Given the description of an element on the screen output the (x, y) to click on. 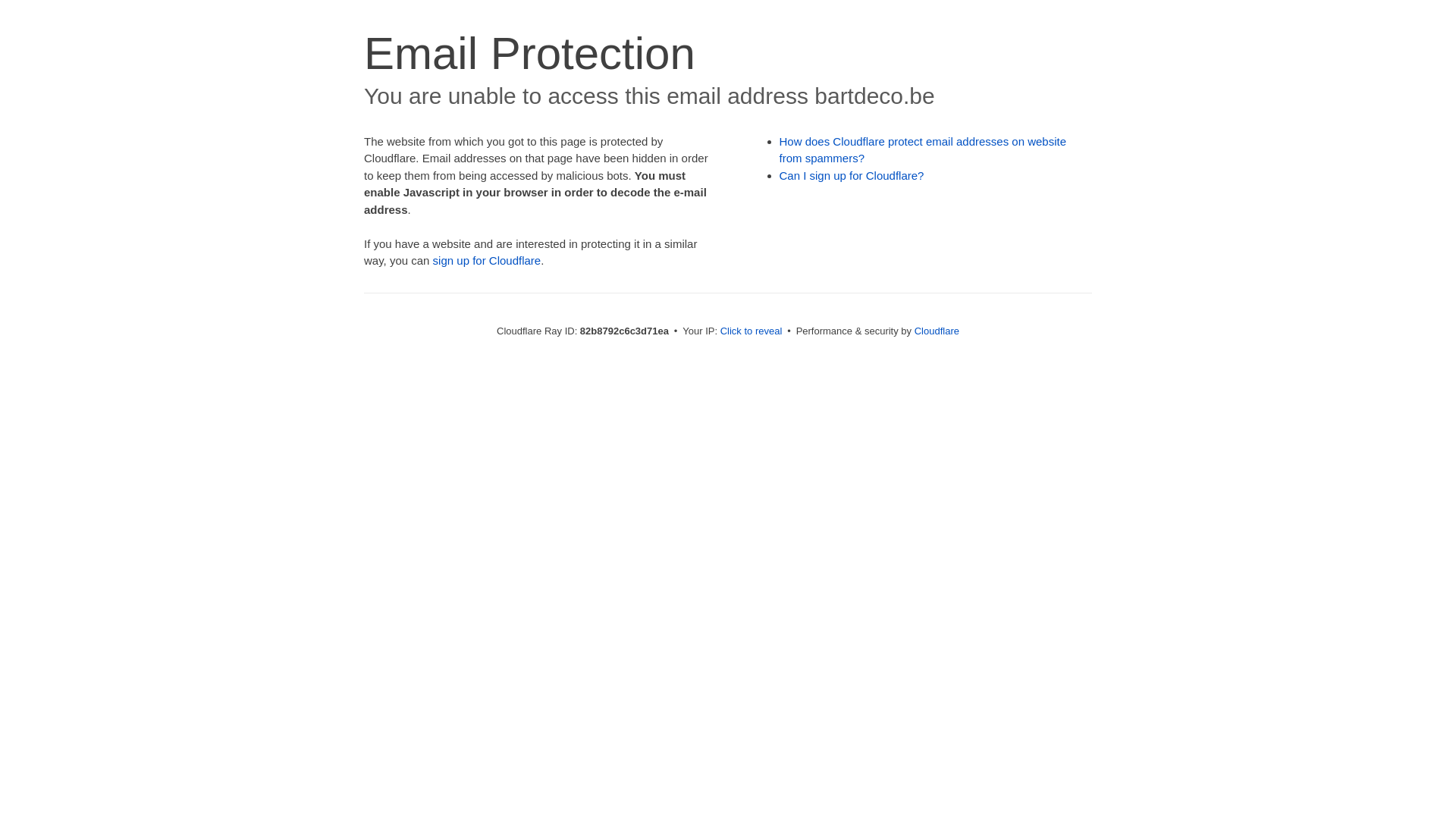
Cloudflare Element type: text (936, 330)
sign up for Cloudflare Element type: text (487, 260)
Click to reveal Element type: text (751, 330)
Can I sign up for Cloudflare? Element type: text (851, 175)
